Given the description of an element on the screen output the (x, y) to click on. 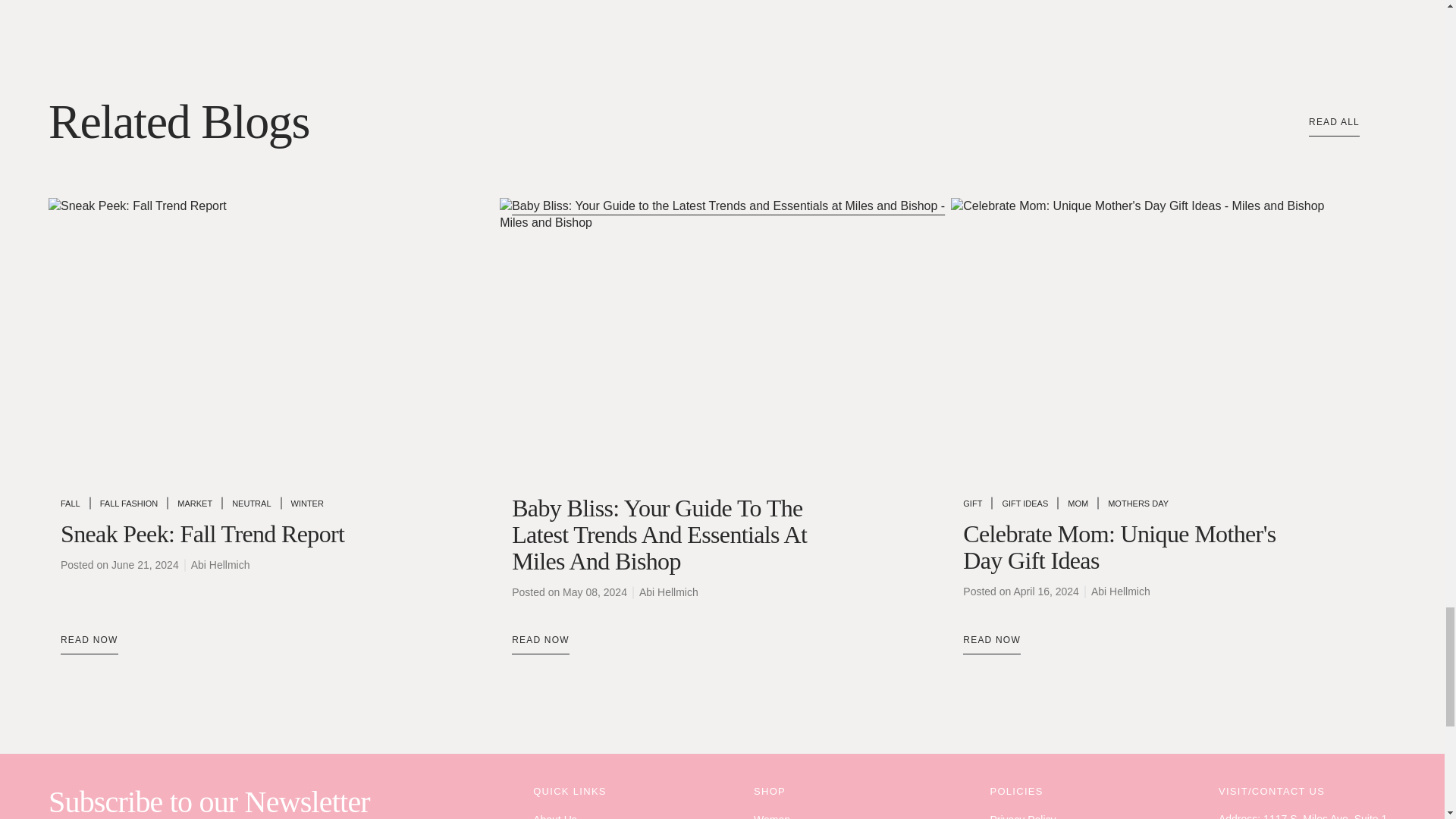
gift ideas (1024, 502)
Fall (70, 502)
gift (971, 502)
Fall Fashion (129, 502)
Winter (307, 502)
Market (194, 502)
Neutral (250, 502)
